Given the description of an element on the screen output the (x, y) to click on. 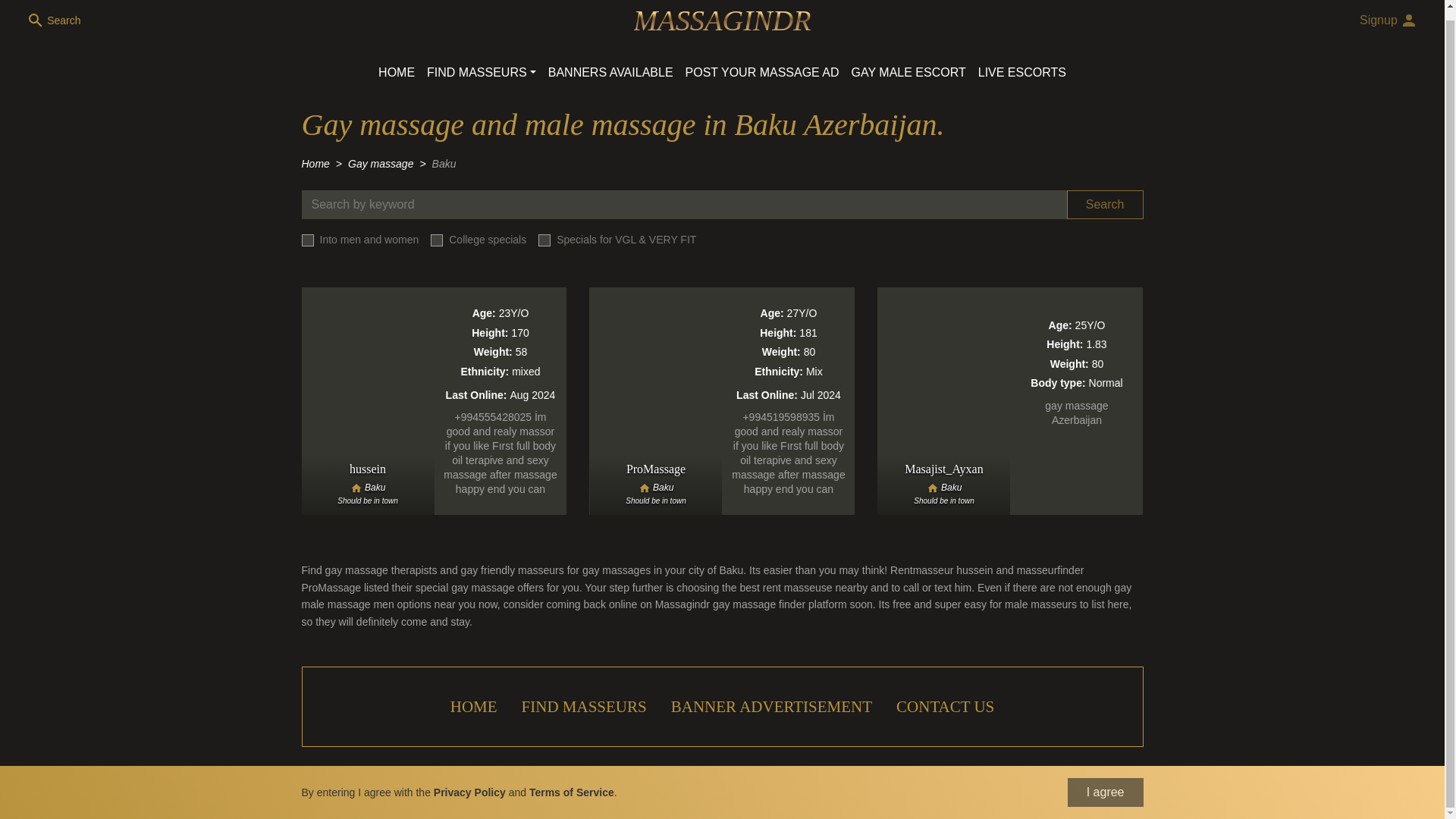
Baku, Baki, Azerbaijan (943, 487)
LIVE ESCORTS (1021, 72)
Privacy Policy (469, 782)
Search (1104, 204)
Search (54, 20)
Baku, Baki, Azerbaijan (654, 487)
MASSAGINDR (721, 20)
ProMassage - View profile (721, 401)
I agree (1104, 782)
Baku, Baki, Azerbaijan (367, 487)
